Given the description of an element on the screen output the (x, y) to click on. 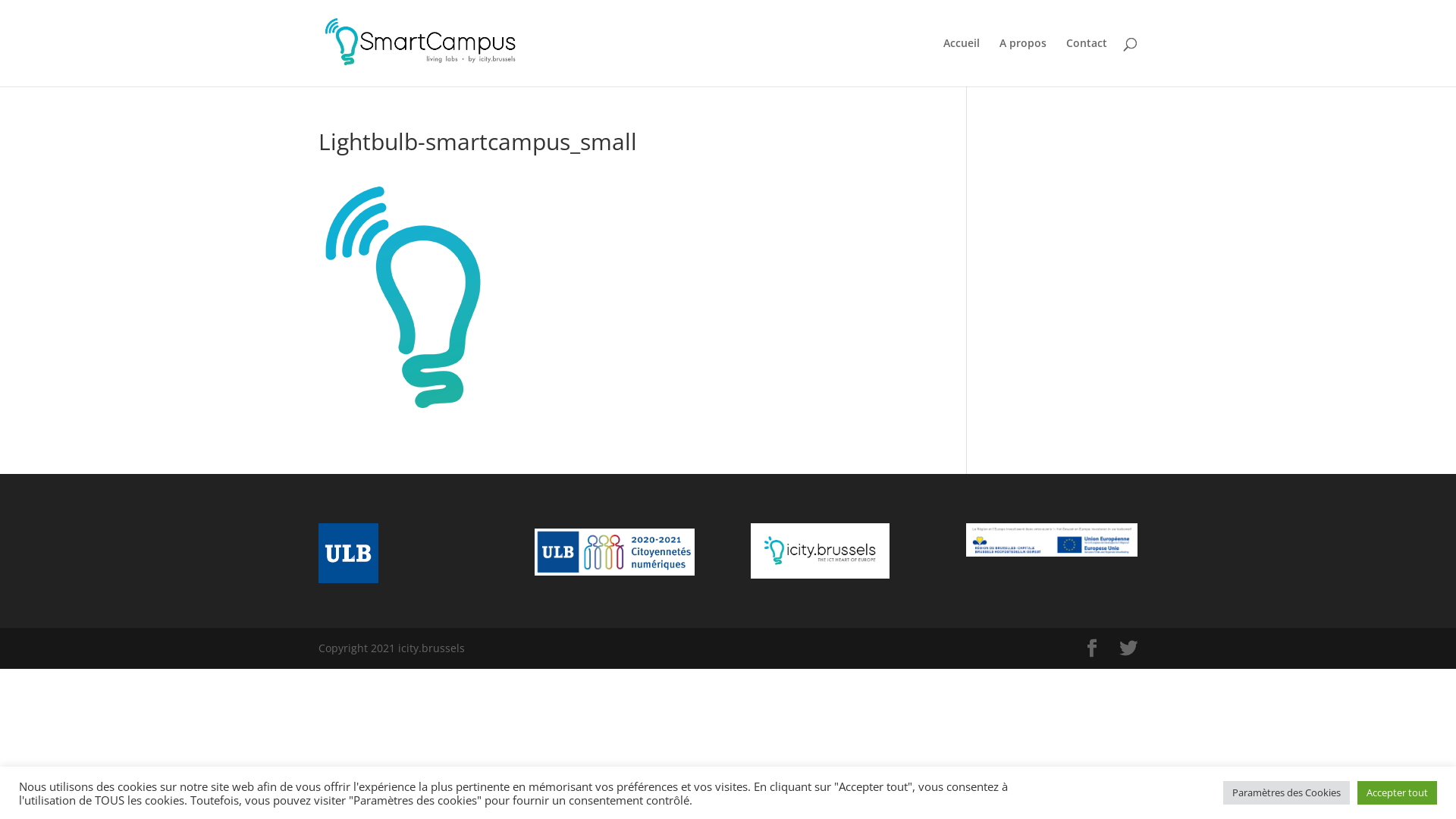
Contact Element type: text (1086, 61)
A propos Element type: text (1022, 61)
Accepter tout Element type: text (1397, 792)
Accueil Element type: text (961, 61)
